Given the description of an element on the screen output the (x, y) to click on. 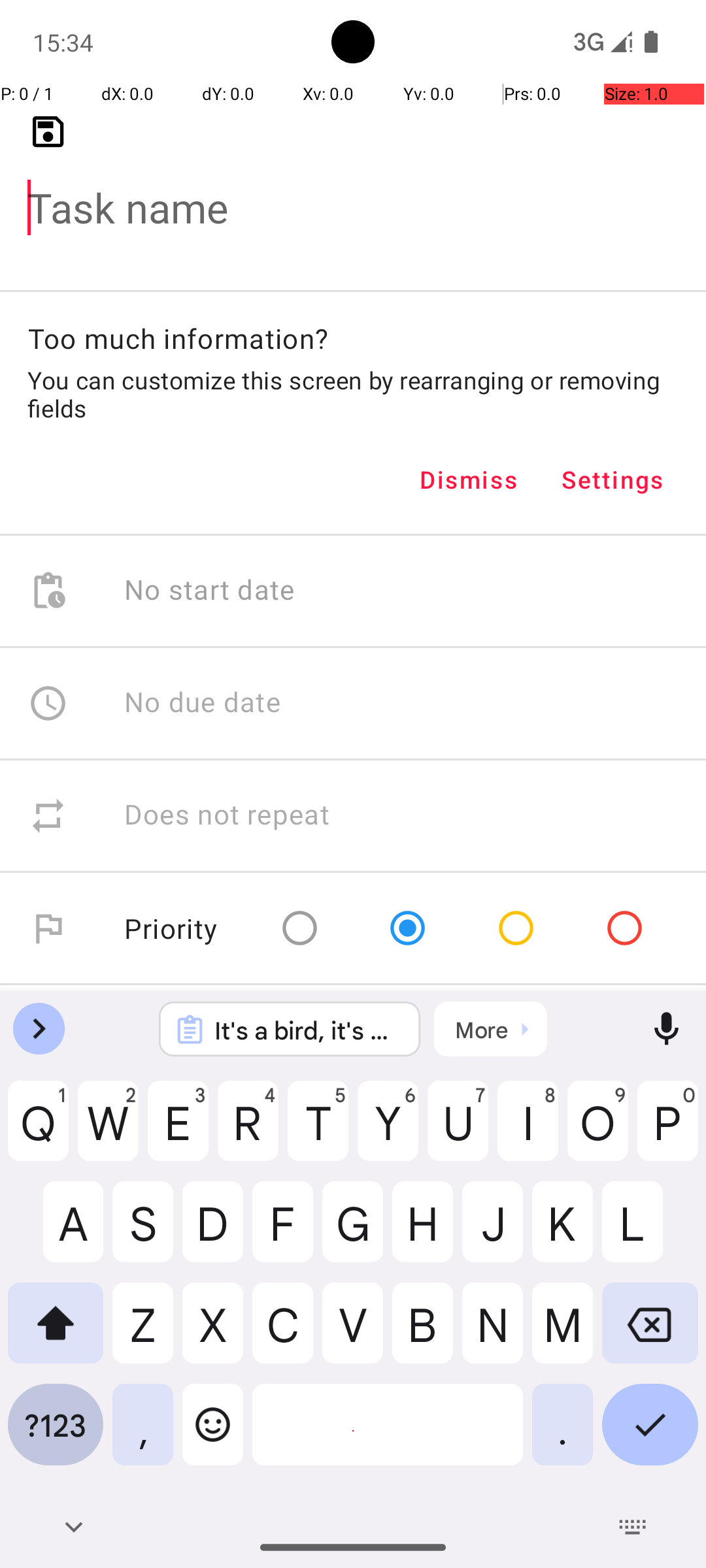
Task name Element type: android.widget.EditText (353, 186)
No due date Element type: android.widget.TextView (202, 702)
No start date Element type: android.widget.TextView (209, 590)
